Given the description of an element on the screen output the (x, y) to click on. 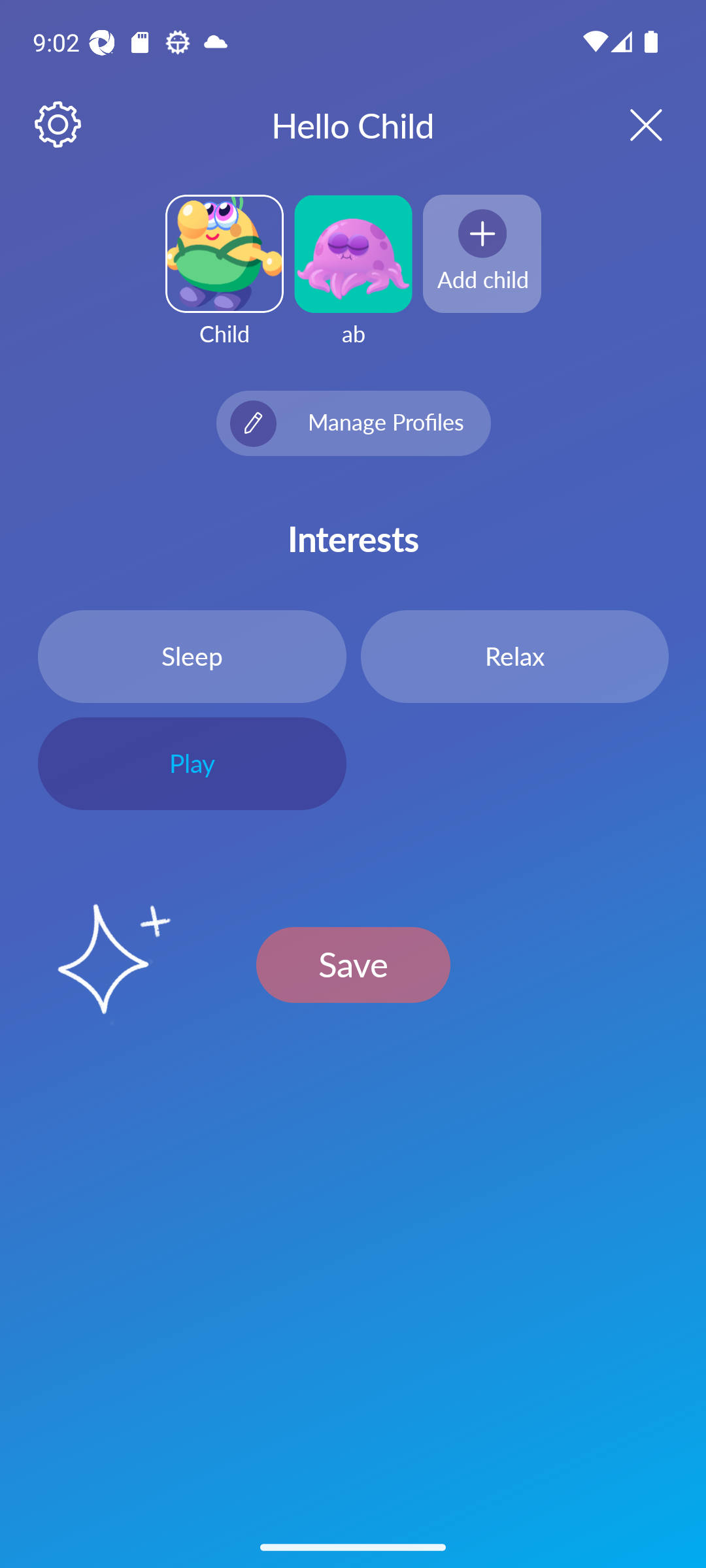
Close (629, 124)
Settings (58, 125)
Child (224, 282)
ab (353, 282)
Add child (481, 253)
icon Manage Profiles (353, 423)
Sleep (192, 655)
Relax (514, 655)
Play (192, 764)
Save (353, 964)
